Given the description of an element on the screen output the (x, y) to click on. 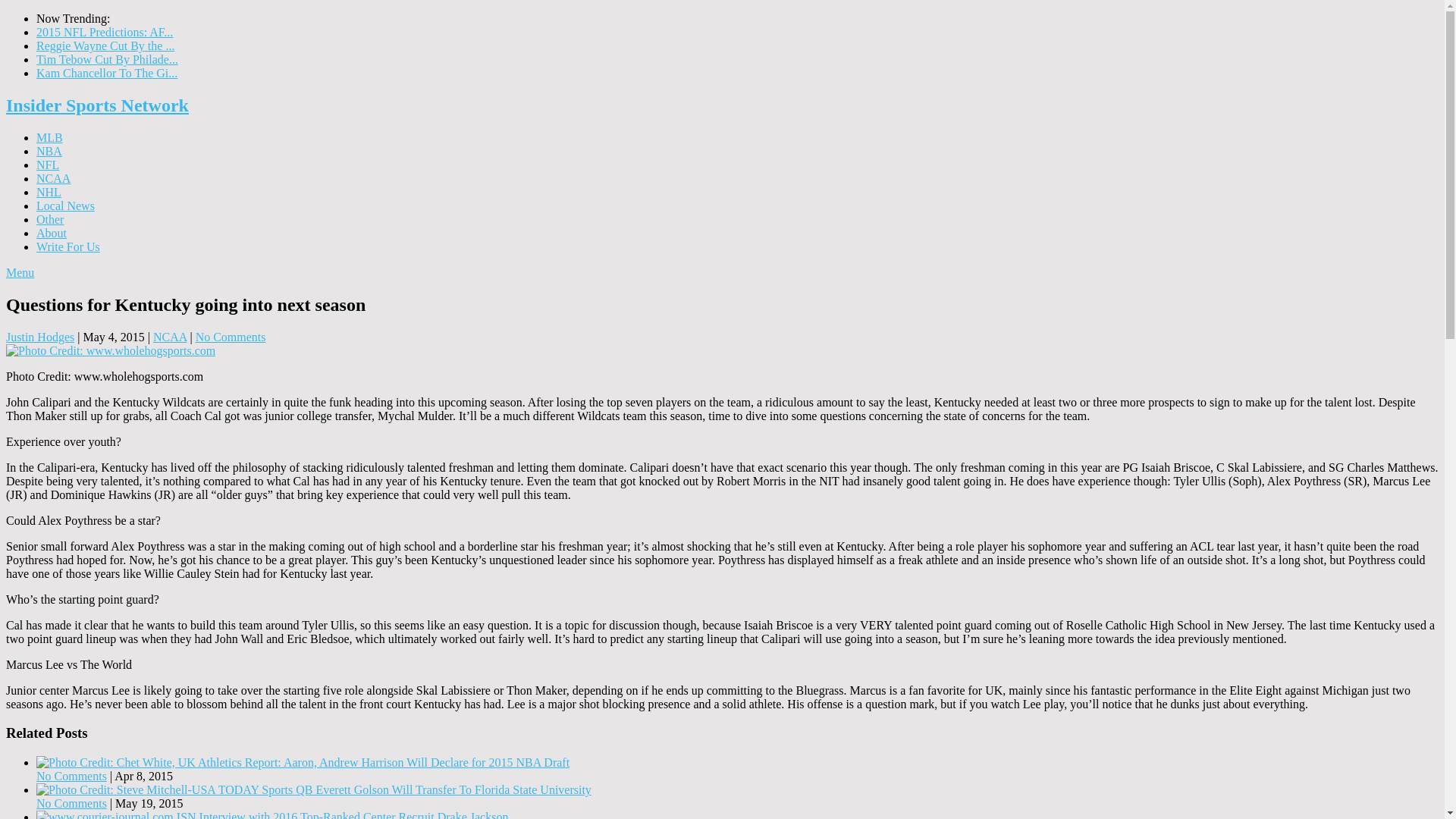
QB Everett Golson Will Transfer To Florida State University (313, 789)
No Comments (71, 802)
No Comments (230, 336)
Posts by Justin Hodges (39, 336)
Tim Tebow Cut By Philadelphia (106, 59)
Kam Chancellor To The Gi... (106, 72)
NCAA (169, 336)
Tim Tebow Cut By Philade... (106, 59)
No Comments (71, 775)
